Given the description of an element on the screen output the (x, y) to click on. 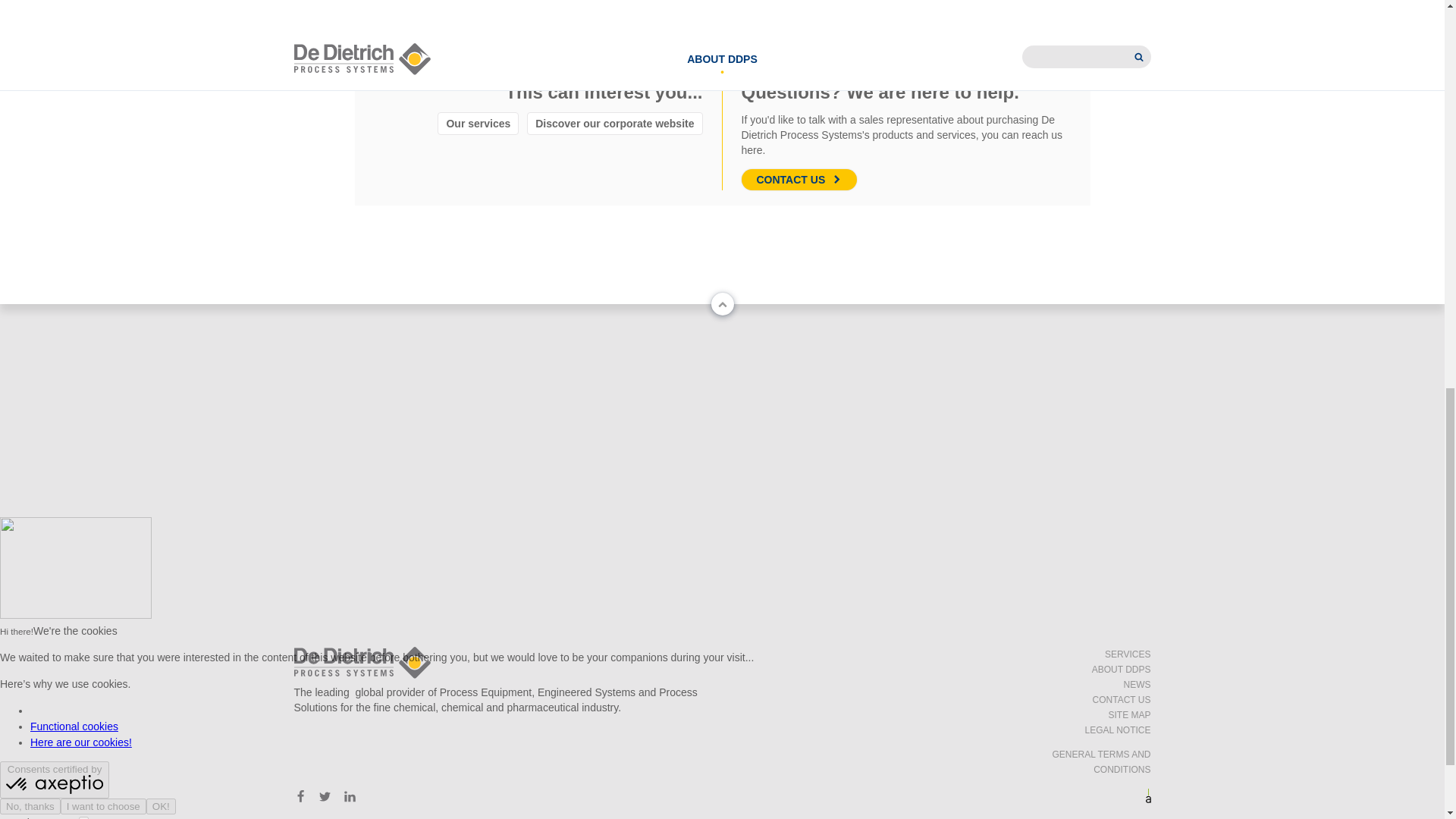
CONTACT US (799, 179)
Discover our corporate website (614, 123)
Our services (478, 123)
